Given the description of an element on the screen output the (x, y) to click on. 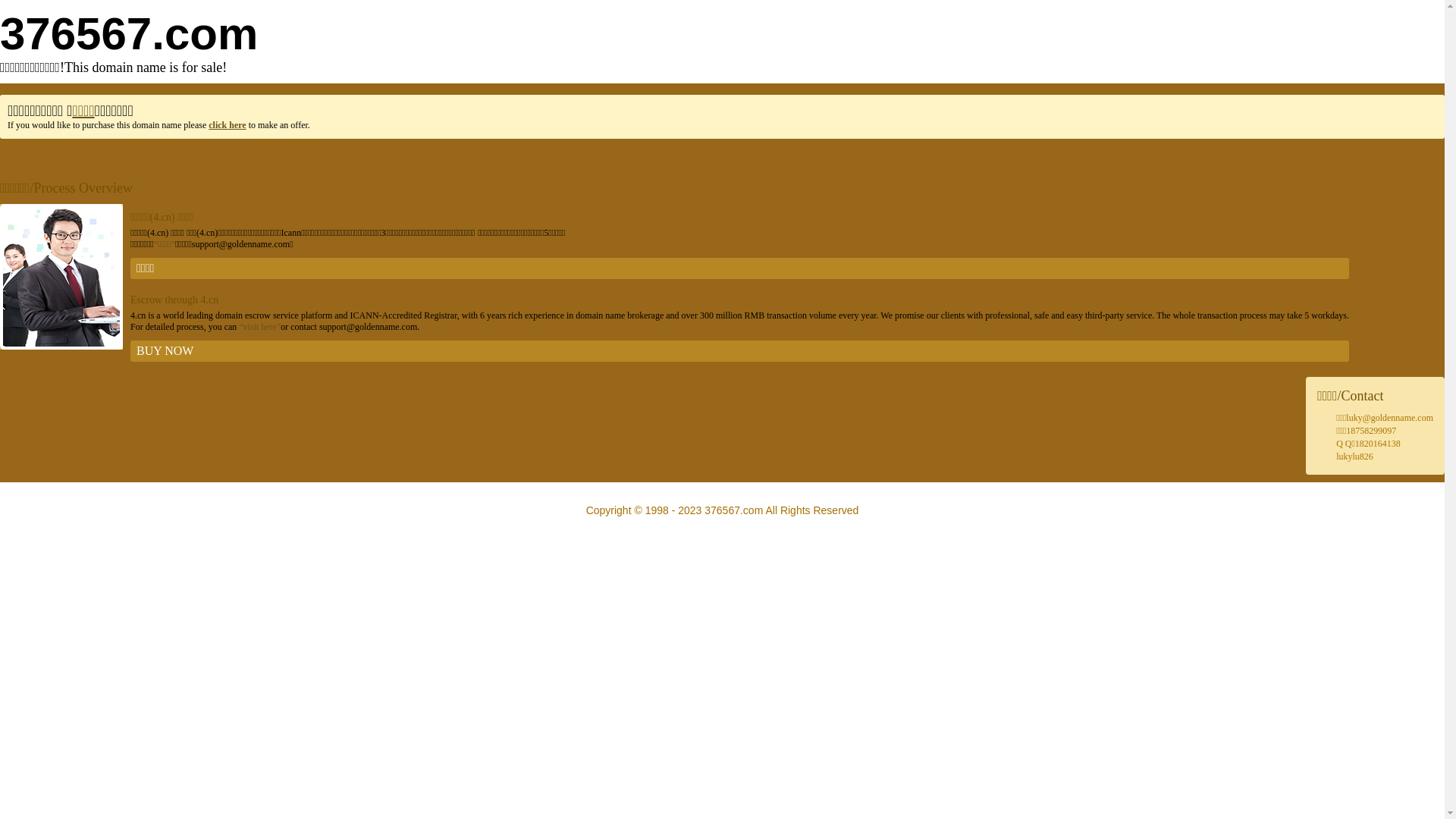
click here Element type: text (226, 124)
BUY NOW Element type: text (739, 350)
